Given the description of an element on the screen output the (x, y) to click on. 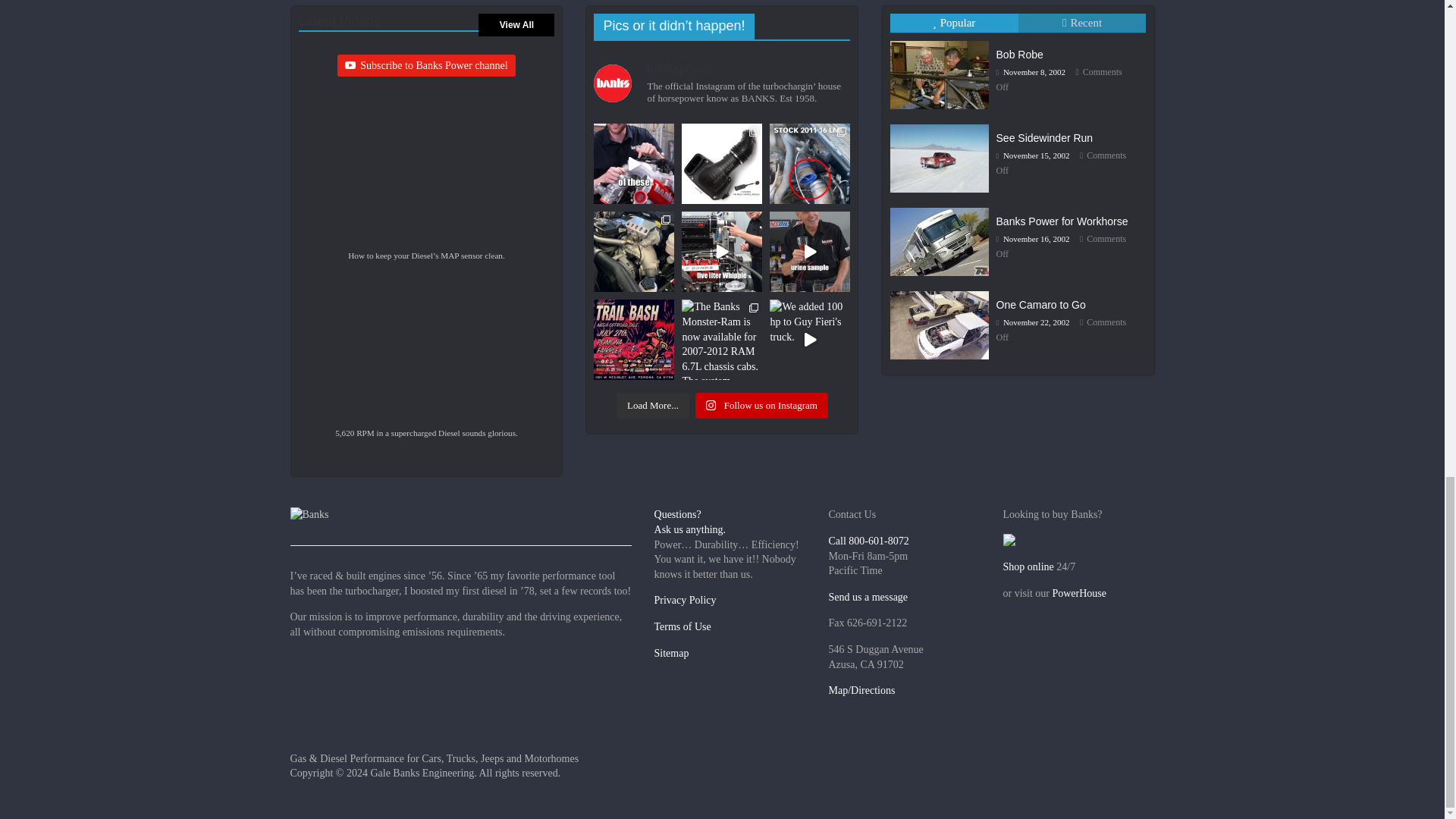
Bob Robe (942, 40)
Bob Robe (938, 74)
12:00 am (1030, 71)
Bob Robe (1019, 54)
